Given the description of an element on the screen output the (x, y) to click on. 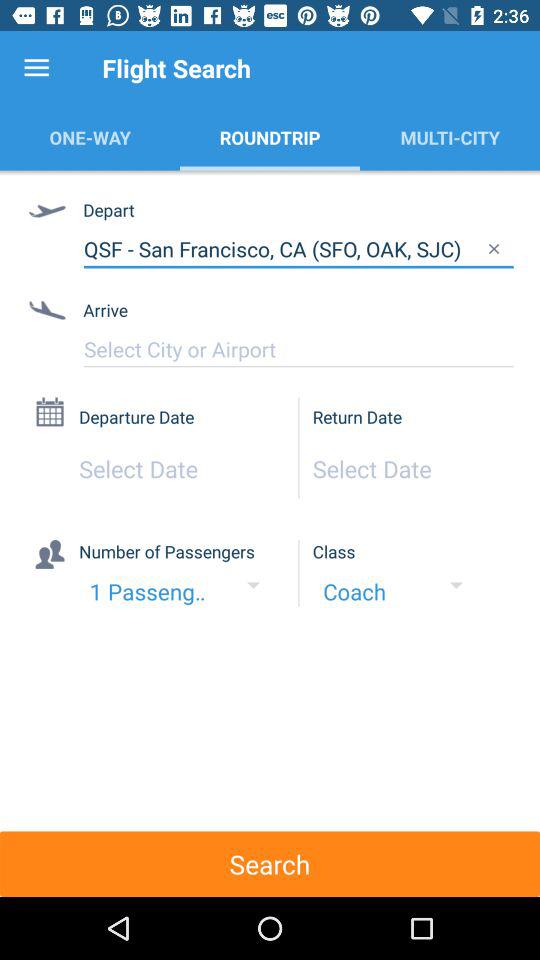
select the item below depart item (298, 249)
